Given the description of an element on the screen output the (x, y) to click on. 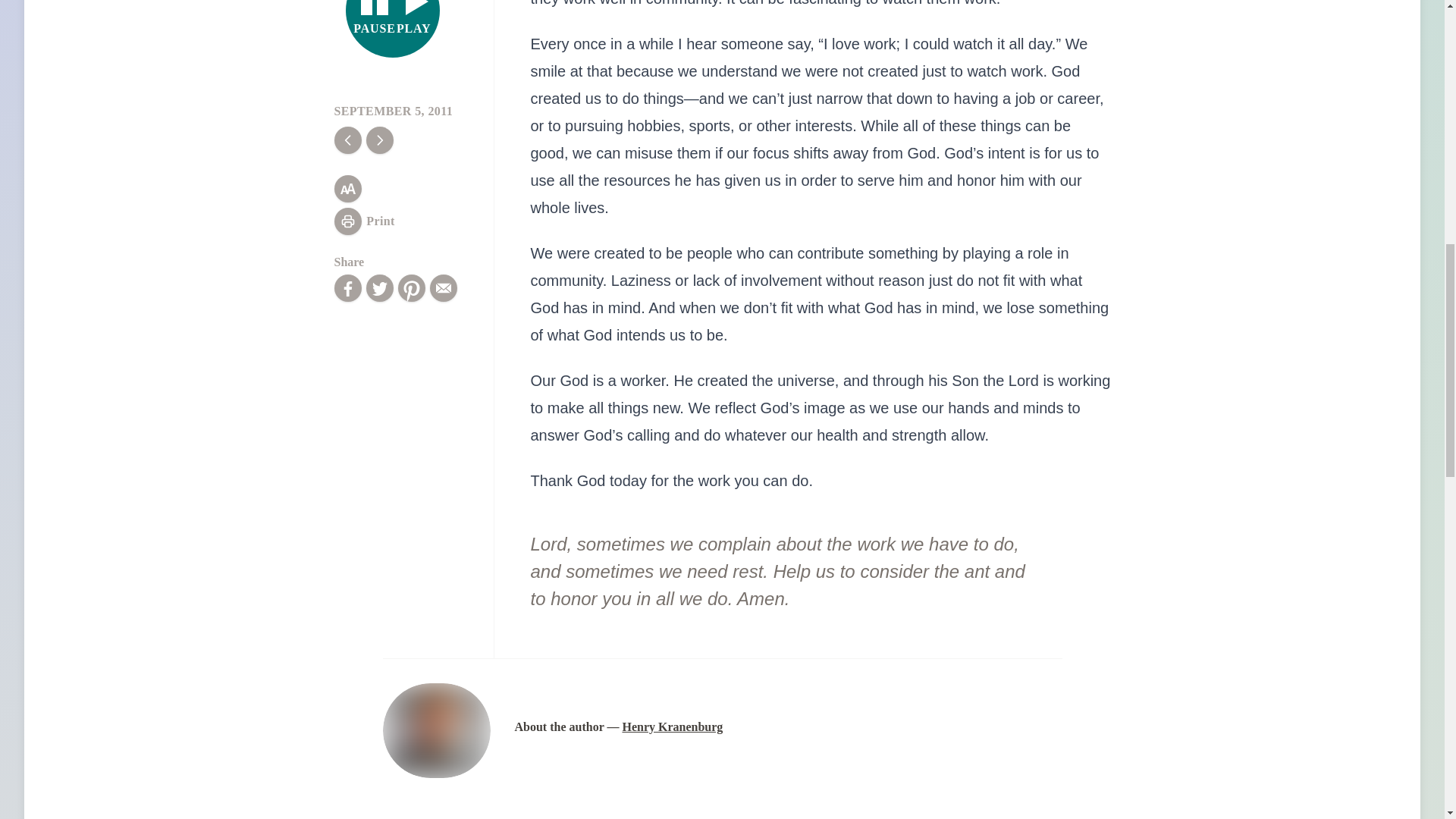
Share by Email (443, 288)
Share on Pinterest (411, 288)
Share on Twitter (379, 288)
Share on Facebook (347, 288)
Share on Twitter (379, 288)
Henry Kranenburg (671, 726)
Print (363, 221)
Share on Pinterest (411, 288)
Share by Email (392, 28)
